Given the description of an element on the screen output the (x, y) to click on. 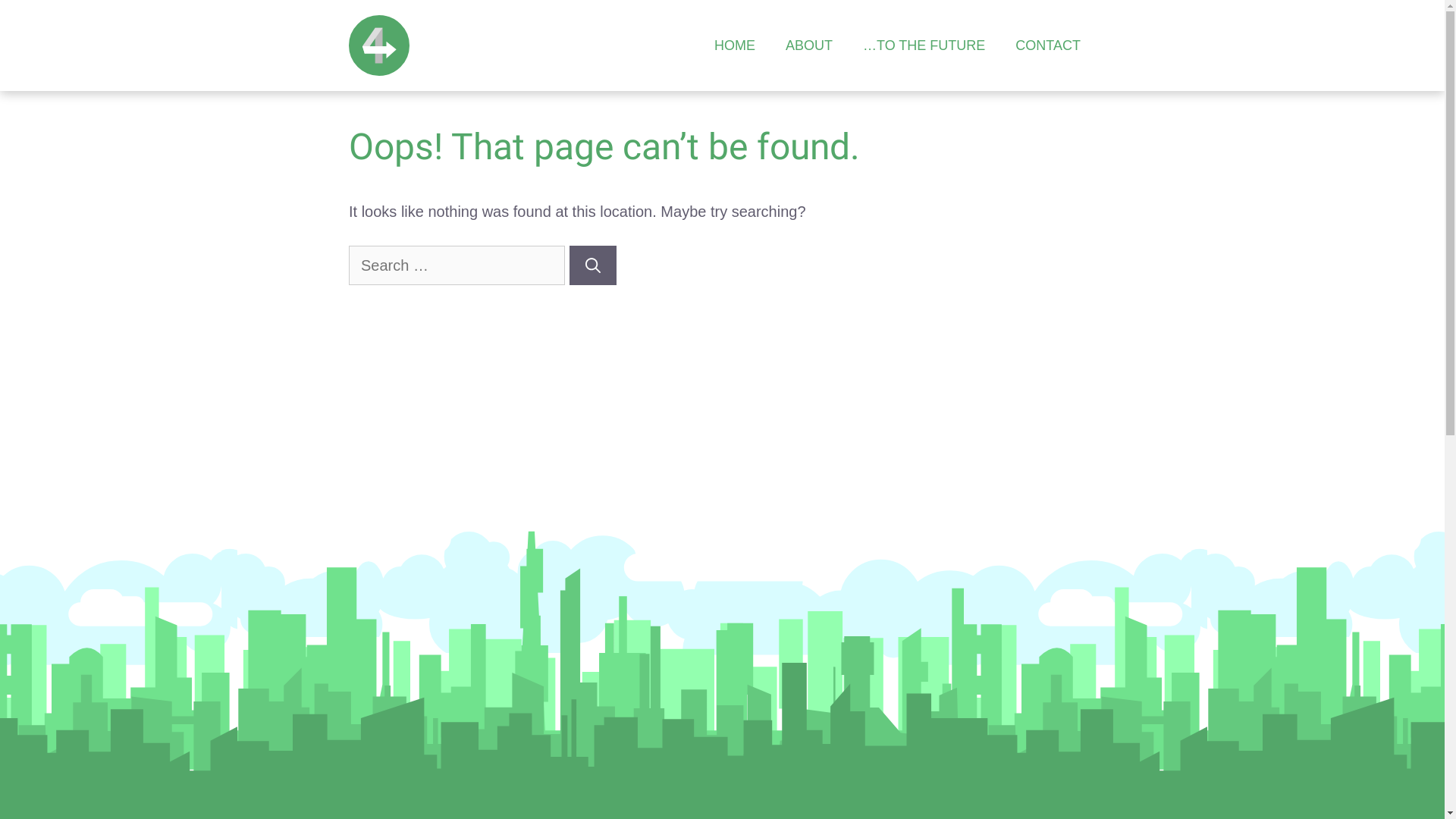
ABOUT Element type: text (808, 44)
HOME Element type: text (734, 44)
Search for: Element type: hover (456, 265)
CONTACT Element type: text (1047, 44)
